Given the description of an element on the screen output the (x, y) to click on. 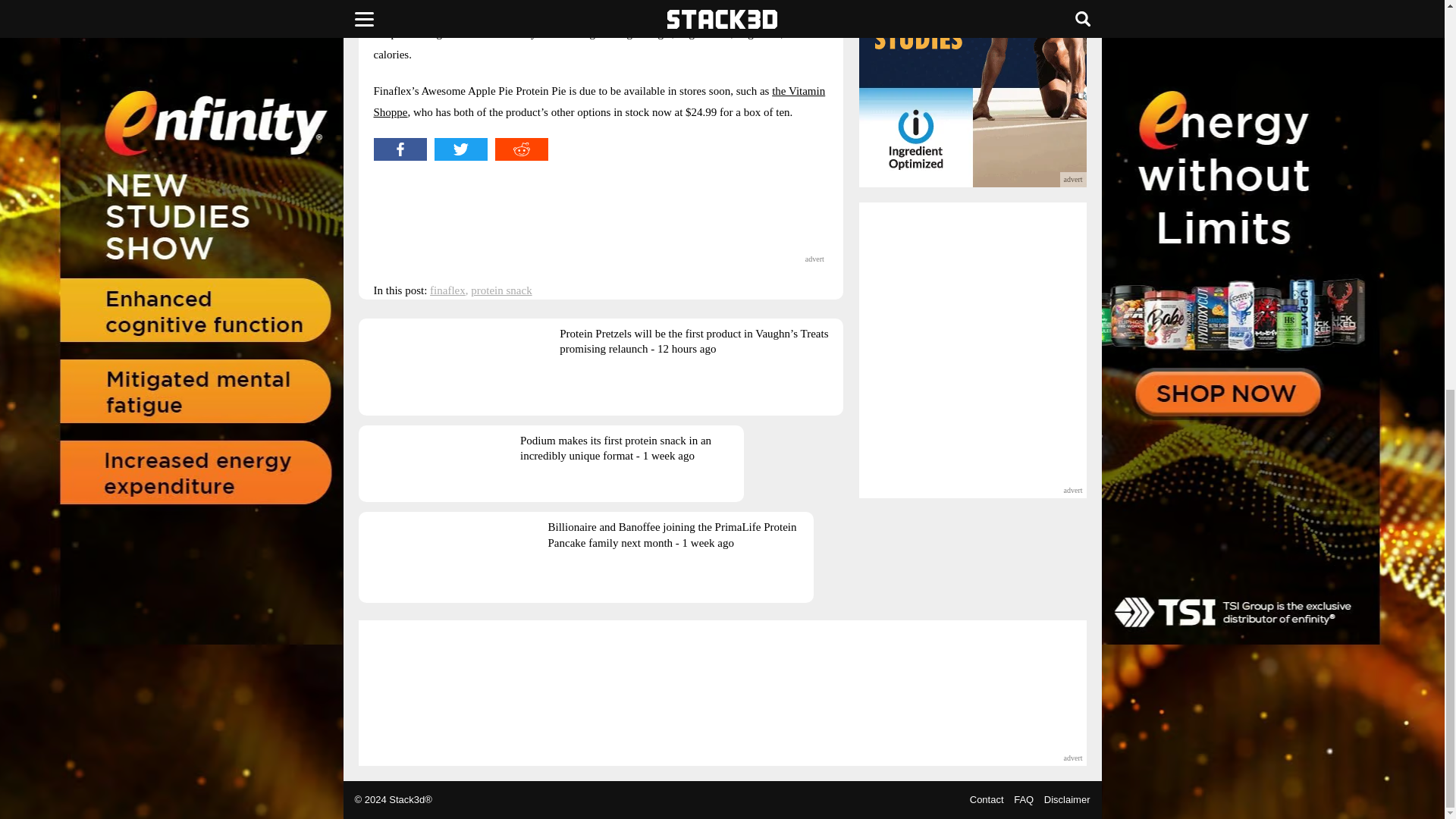
the Vitamin Shoppe (598, 101)
